Given the description of an element on the screen output the (x, y) to click on. 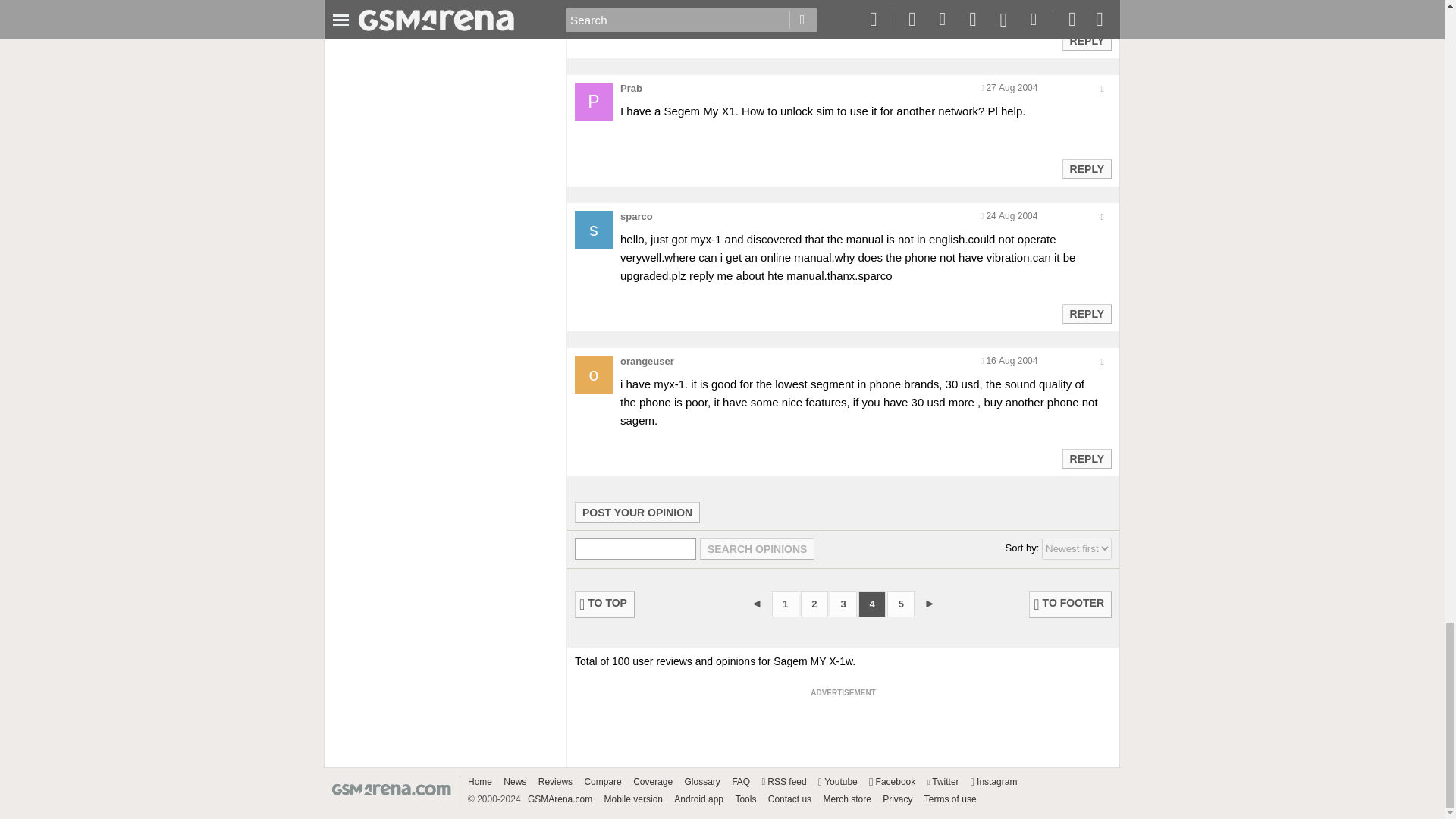
TO TOP (604, 604)
Search opinions (756, 548)
